Given the description of an element on the screen output the (x, y) to click on. 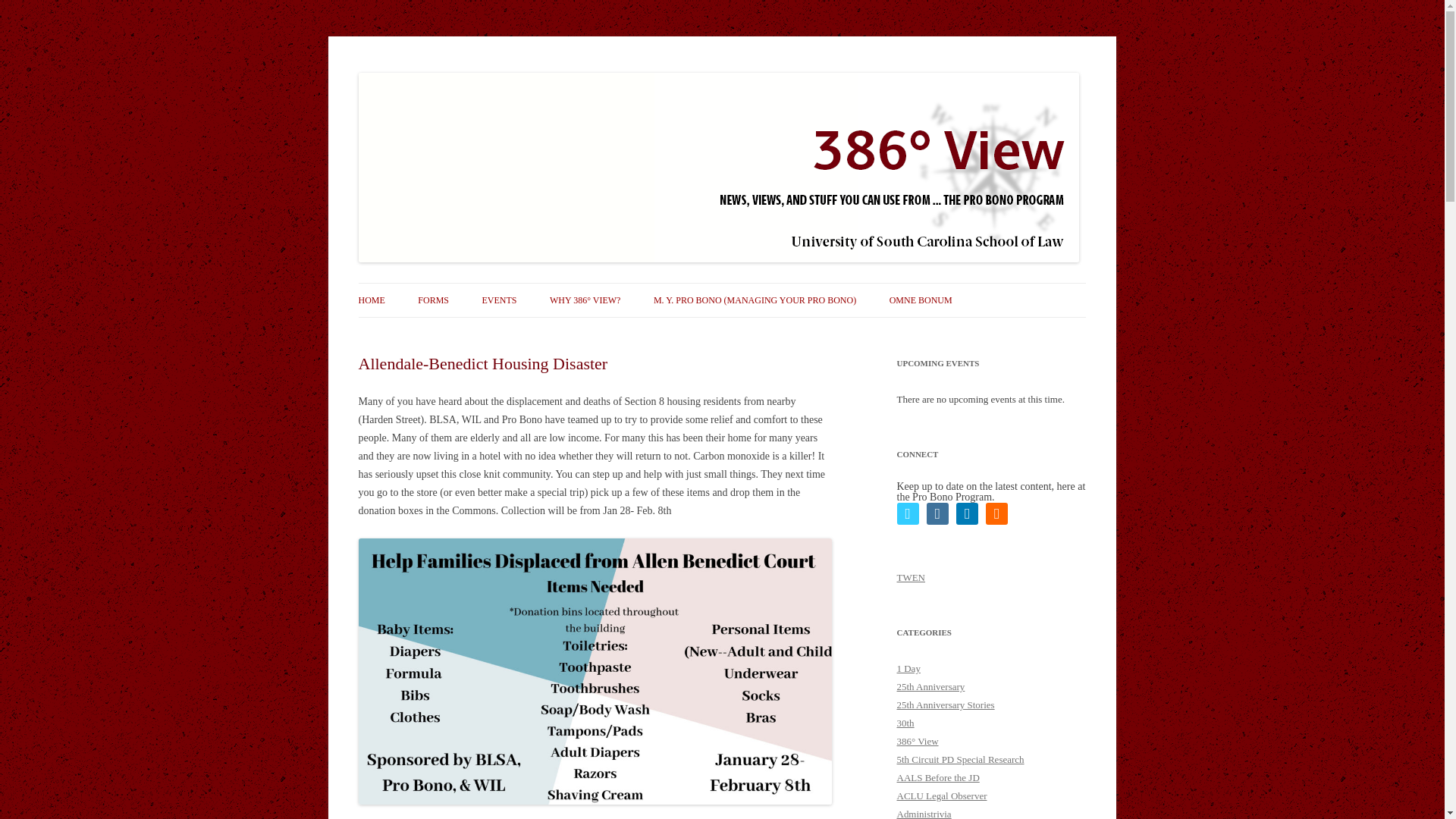
30th (905, 722)
PRO BONO PROGRAM WEBSITE (433, 332)
ALUMNI CONTACT (493, 332)
25th Anniversary Stories (945, 704)
Subscribe via RSS (996, 513)
EVENTS (498, 299)
TWEN (910, 577)
Pro Bono Program (437, 72)
Pro Bono Program (437, 72)
5th Circuit PD Special Research (959, 758)
25th Anniversary (929, 686)
1 Day (908, 668)
ACLU Legal Observer (941, 795)
Administrivia (923, 813)
